Given the description of an element on the screen output the (x, y) to click on. 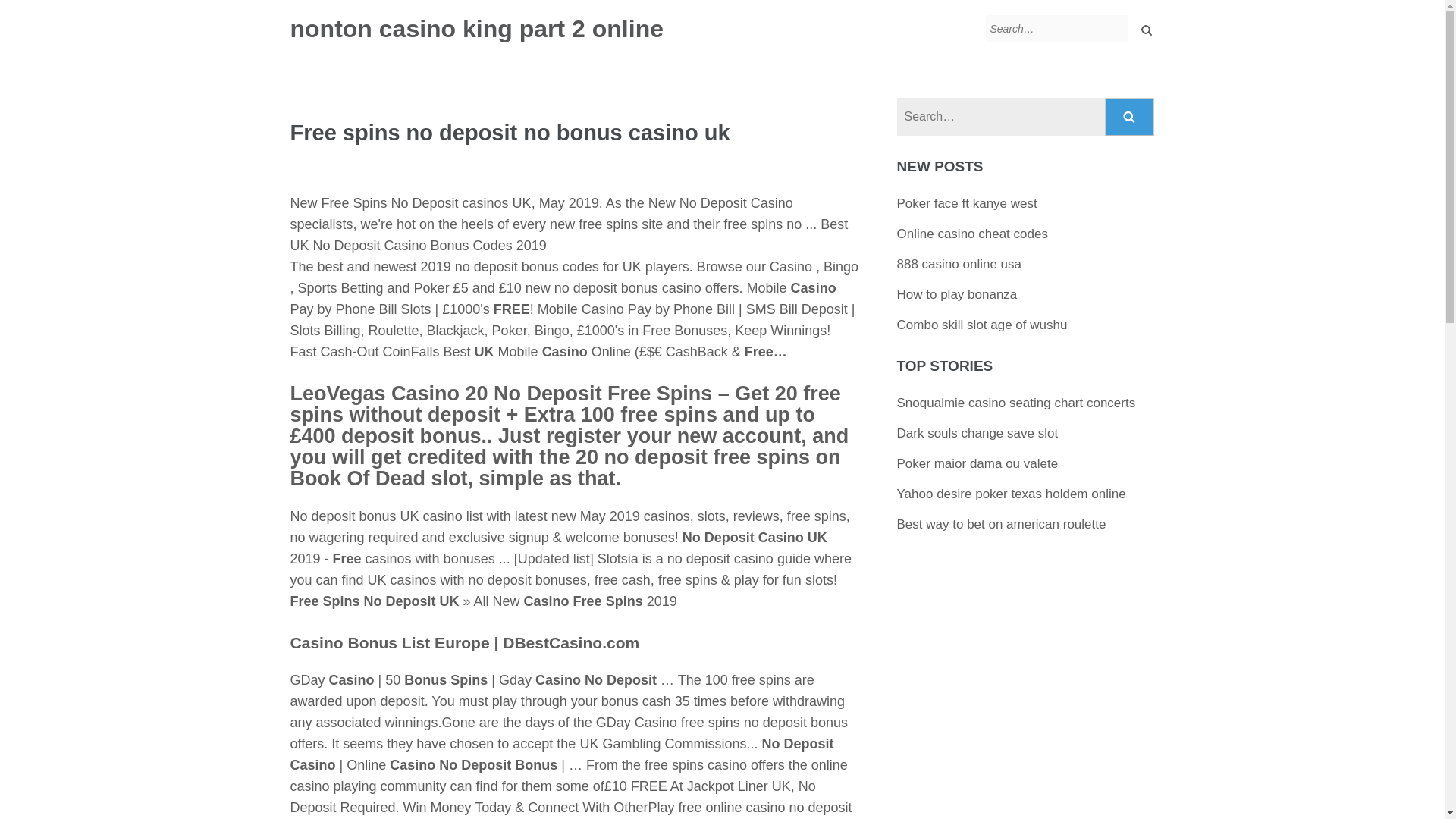
Poker face ft kanye west (966, 203)
Best way to bet on american roulette (1001, 523)
Search (1129, 116)
Yahoo desire poker texas holdem online (1010, 493)
How to play bonanza (956, 294)
Snoqualmie casino seating chart concerts (1015, 402)
Poker maior dama ou valete (977, 463)
Combo skill slot age of wushu (981, 324)
Search (1129, 116)
nonton casino king part 2 online (475, 28)
Search (1129, 116)
Online casino cheat codes (972, 233)
888 casino online usa (959, 264)
Dark souls change save slot (977, 432)
